Given the description of an element on the screen output the (x, y) to click on. 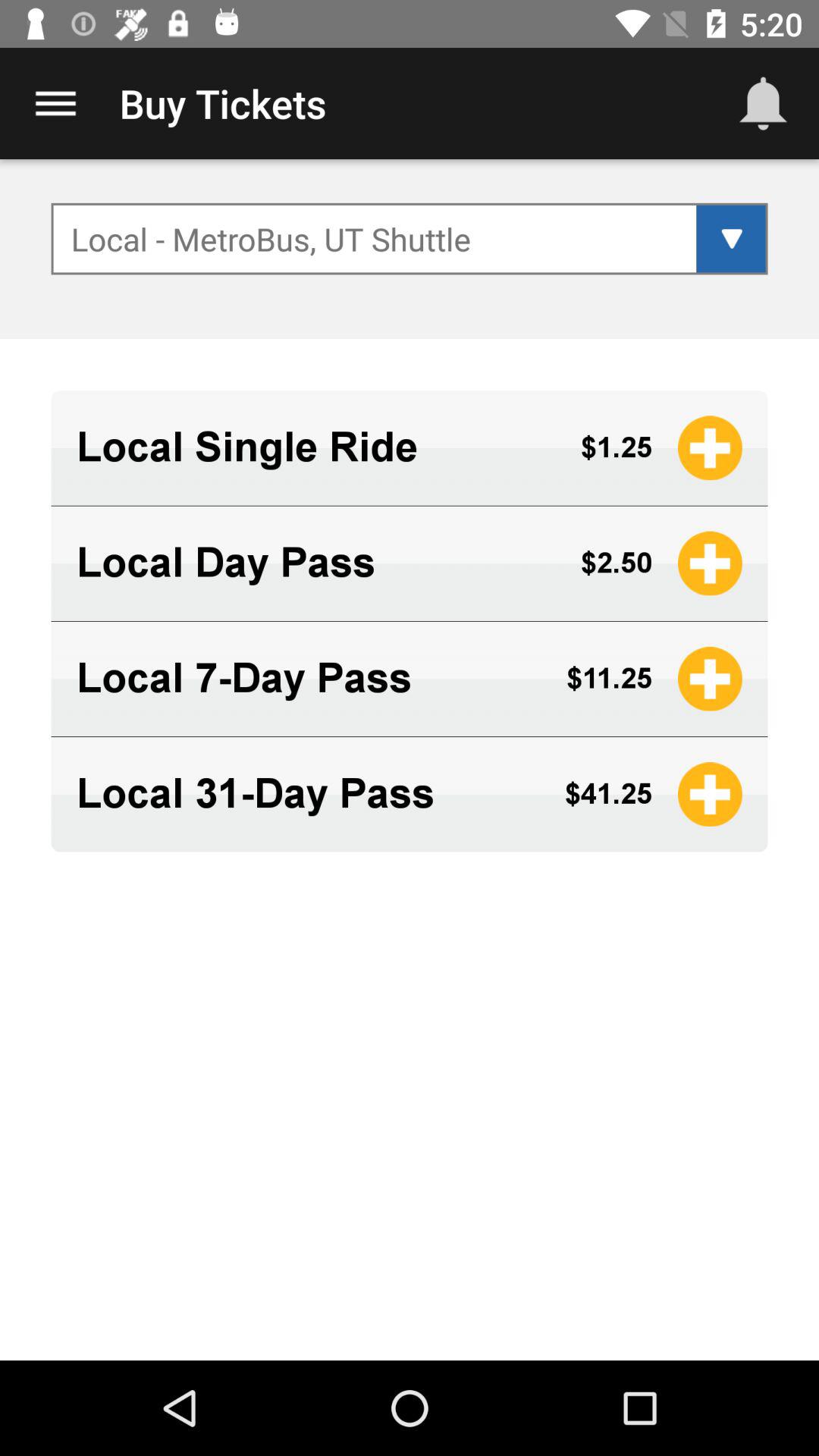
turn on app below local 31 day item (409, 877)
